Given the description of an element on the screen output the (x, y) to click on. 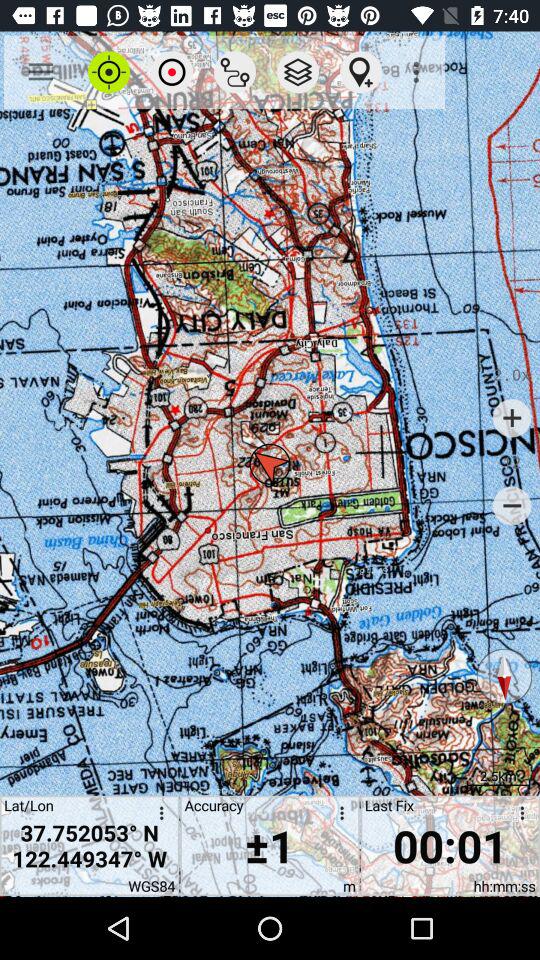
select the icon above last fix icon (418, 71)
